Given the description of an element on the screen output the (x, y) to click on. 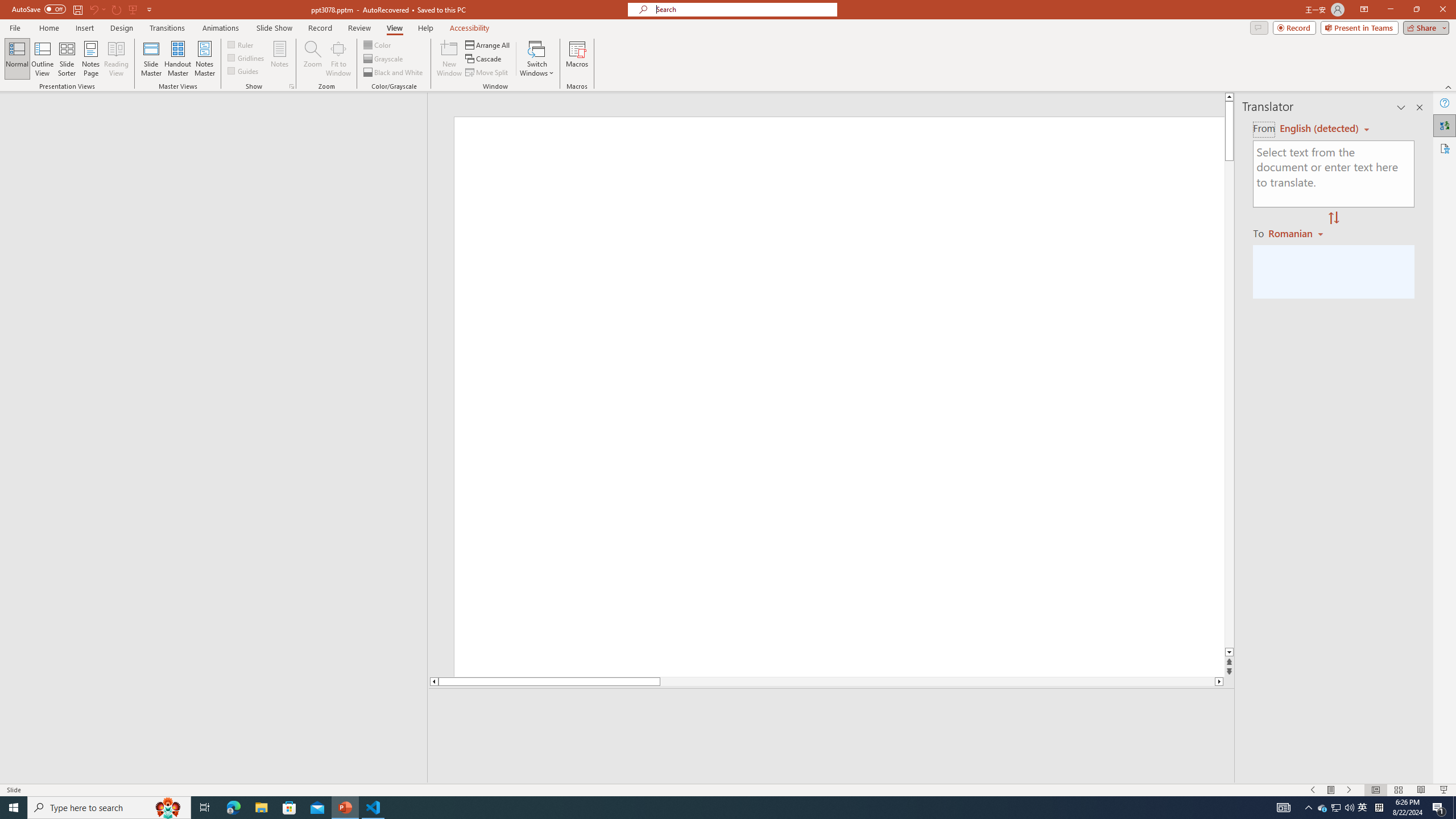
Romanian (1296, 232)
Move Split (487, 72)
Menu On (1331, 790)
Guides (243, 69)
Grid Settings... (291, 85)
